Given the description of an element on the screen output the (x, y) to click on. 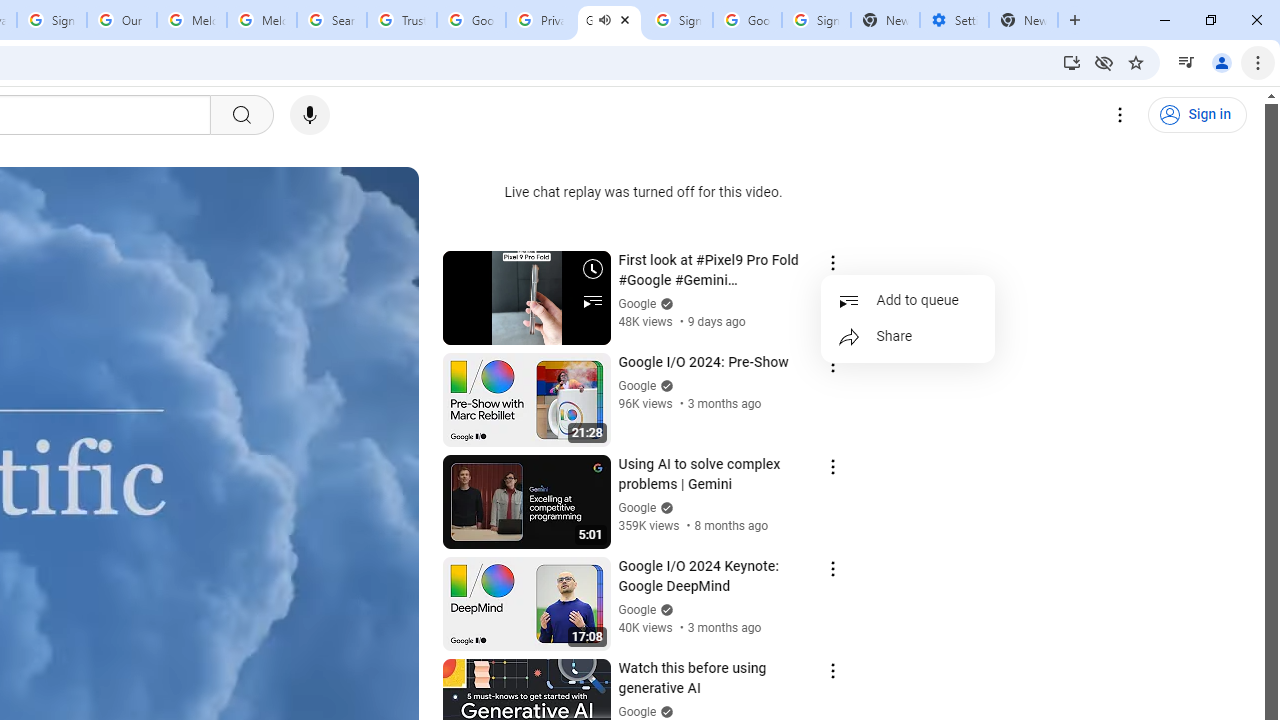
Add to queue (907, 300)
Add to queue (907, 300)
Verified (664, 711)
Google Ads - Sign in (470, 20)
New Tab (1023, 20)
